Given the description of an element on the screen output the (x, y) to click on. 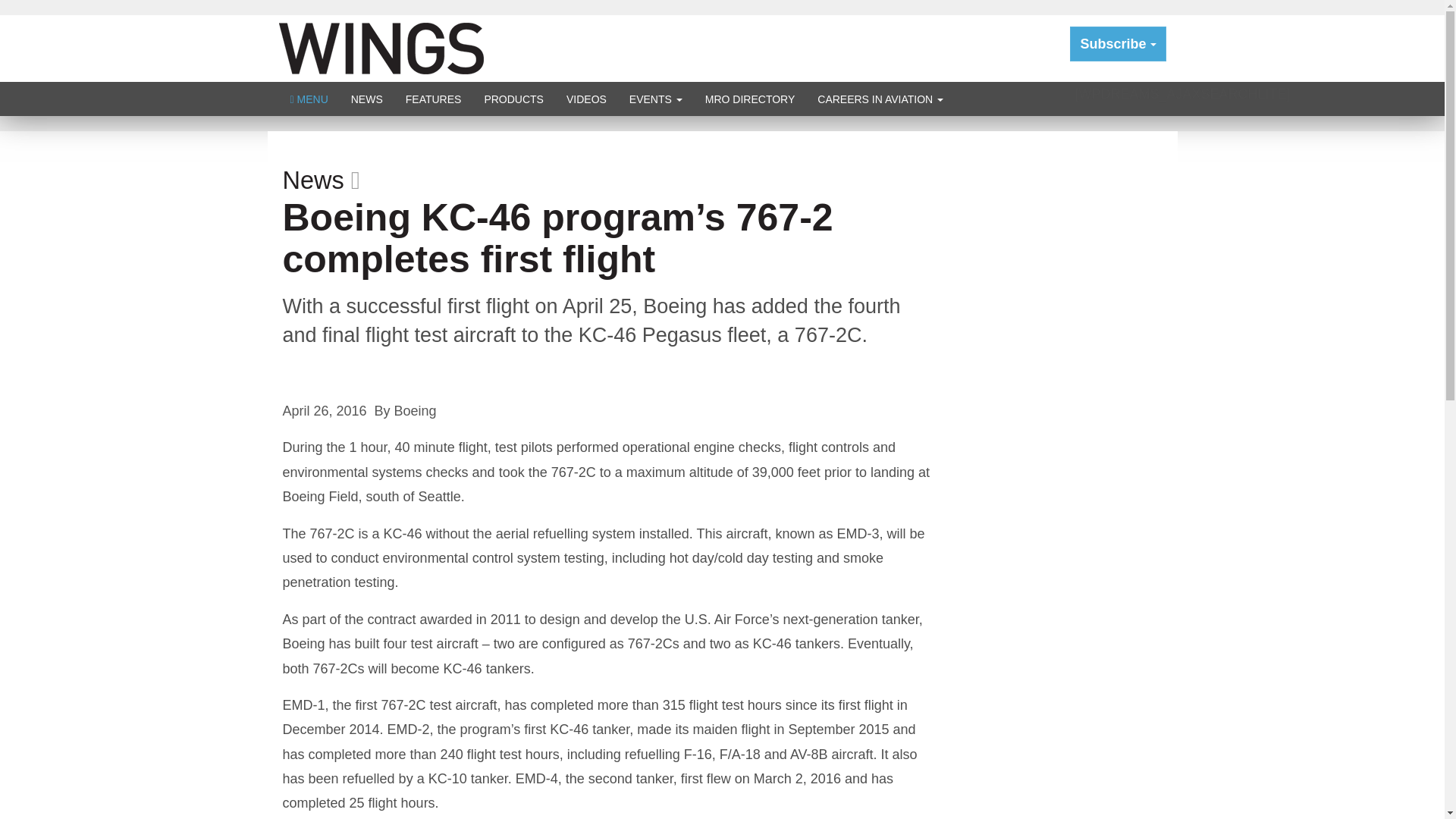
Click to show site navigation (309, 98)
Wings Magazine (381, 47)
EVENTS (655, 98)
MRO DIRECTORY (750, 98)
CAREERS IN AVIATION (880, 98)
NEWS (366, 98)
PRODUCTS (512, 98)
VIDEOS (585, 98)
MENU (309, 98)
FEATURES (433, 98)
